Given the description of an element on the screen output the (x, y) to click on. 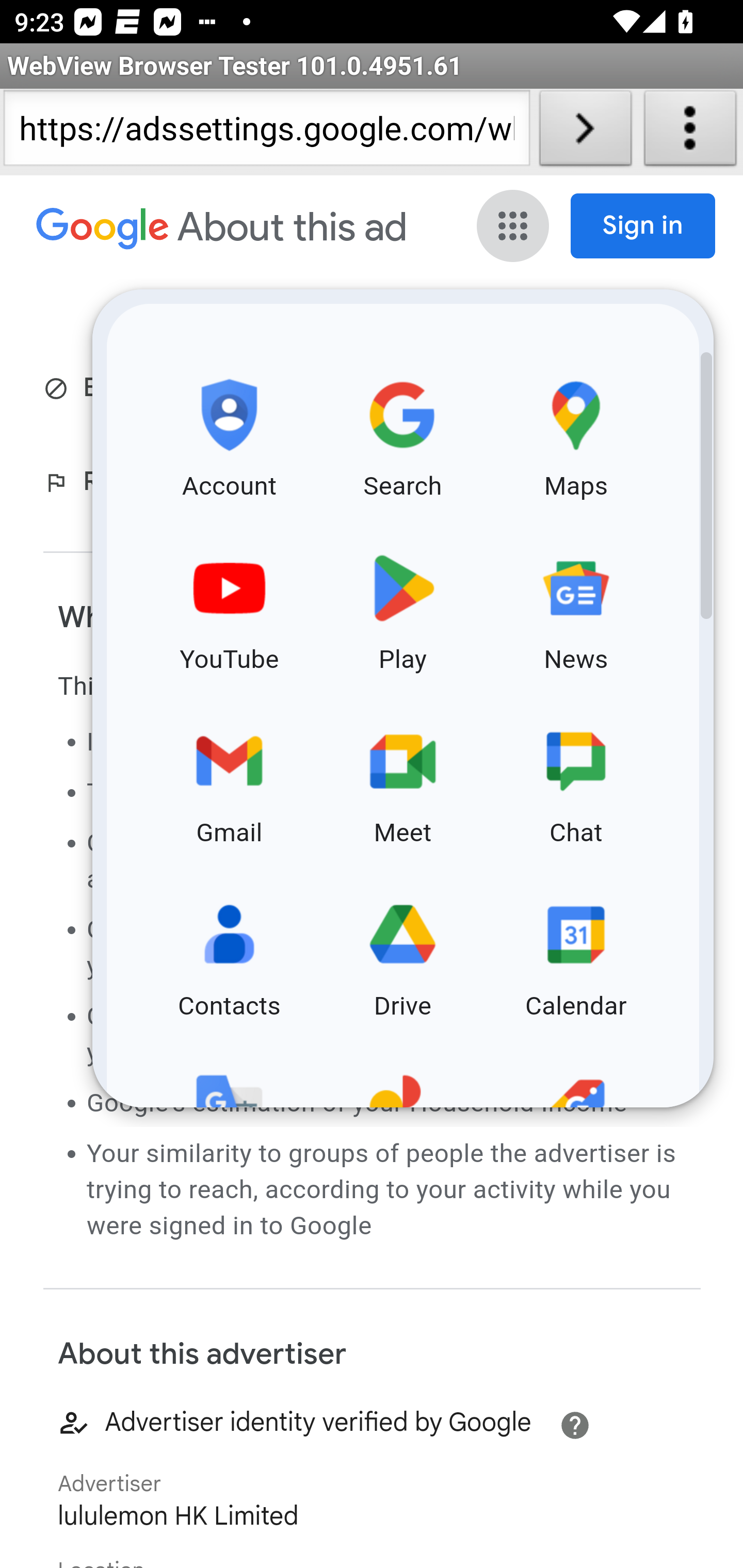
https://adssettings.google.com/whythisad (266, 132)
Load URL (585, 132)
About WebView (690, 132)
Google apps (513, 226)
Sign in (643, 226)
